Given the description of an element on the screen output the (x, y) to click on. 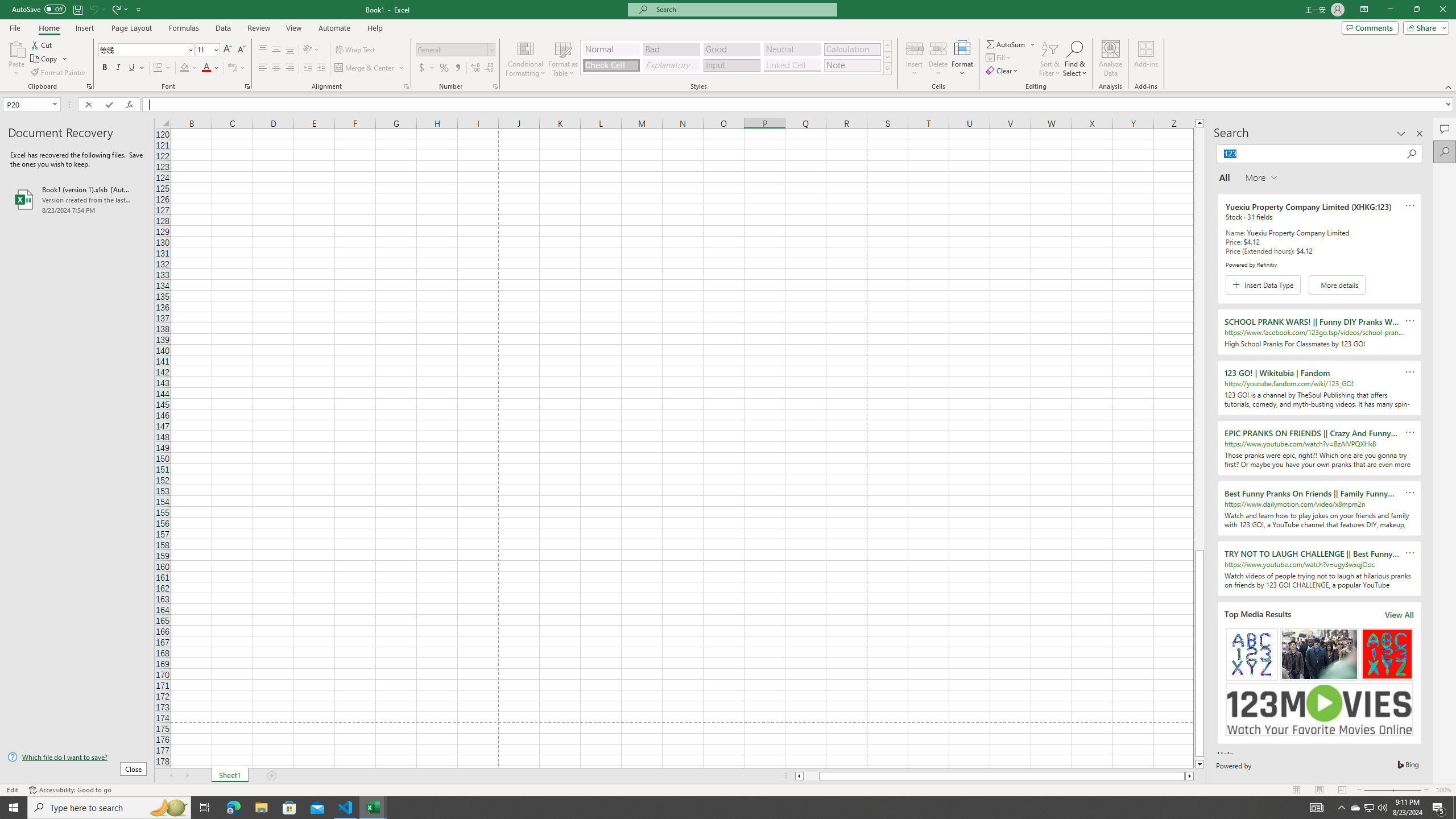
AutomationID: CellStylesGallery (736, 57)
Analyze Data (1110, 58)
Borders (162, 67)
Cell Styles (887, 68)
Show Phonetic Field (236, 67)
Input (731, 65)
Neutral (791, 49)
Class: NetUIImage (887, 68)
Number Format (455, 49)
Row up (887, 45)
Office Clipboard... (88, 85)
